Given the description of an element on the screen output the (x, y) to click on. 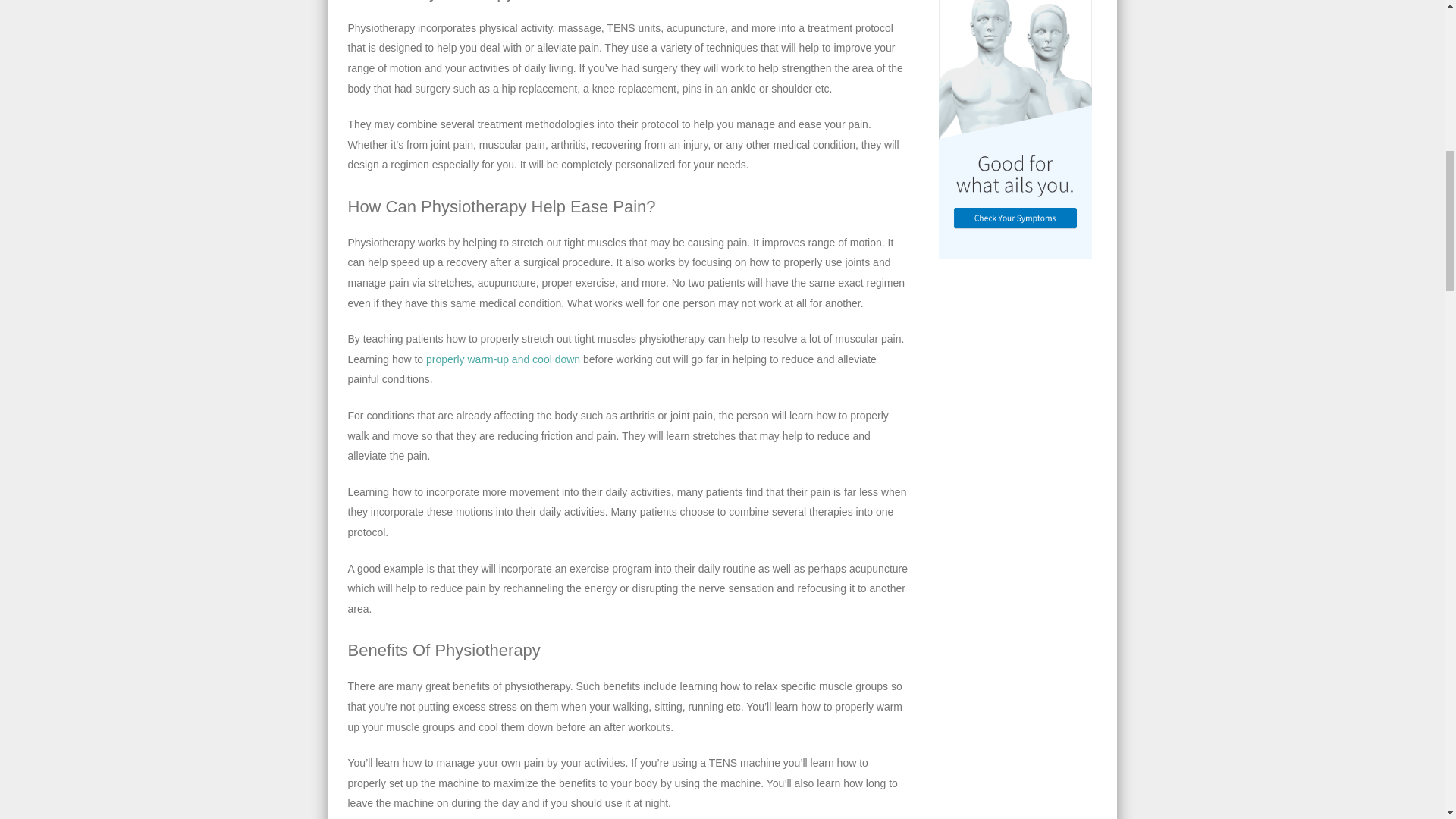
properly warm-up and cool down (502, 358)
